Given the description of an element on the screen output the (x, y) to click on. 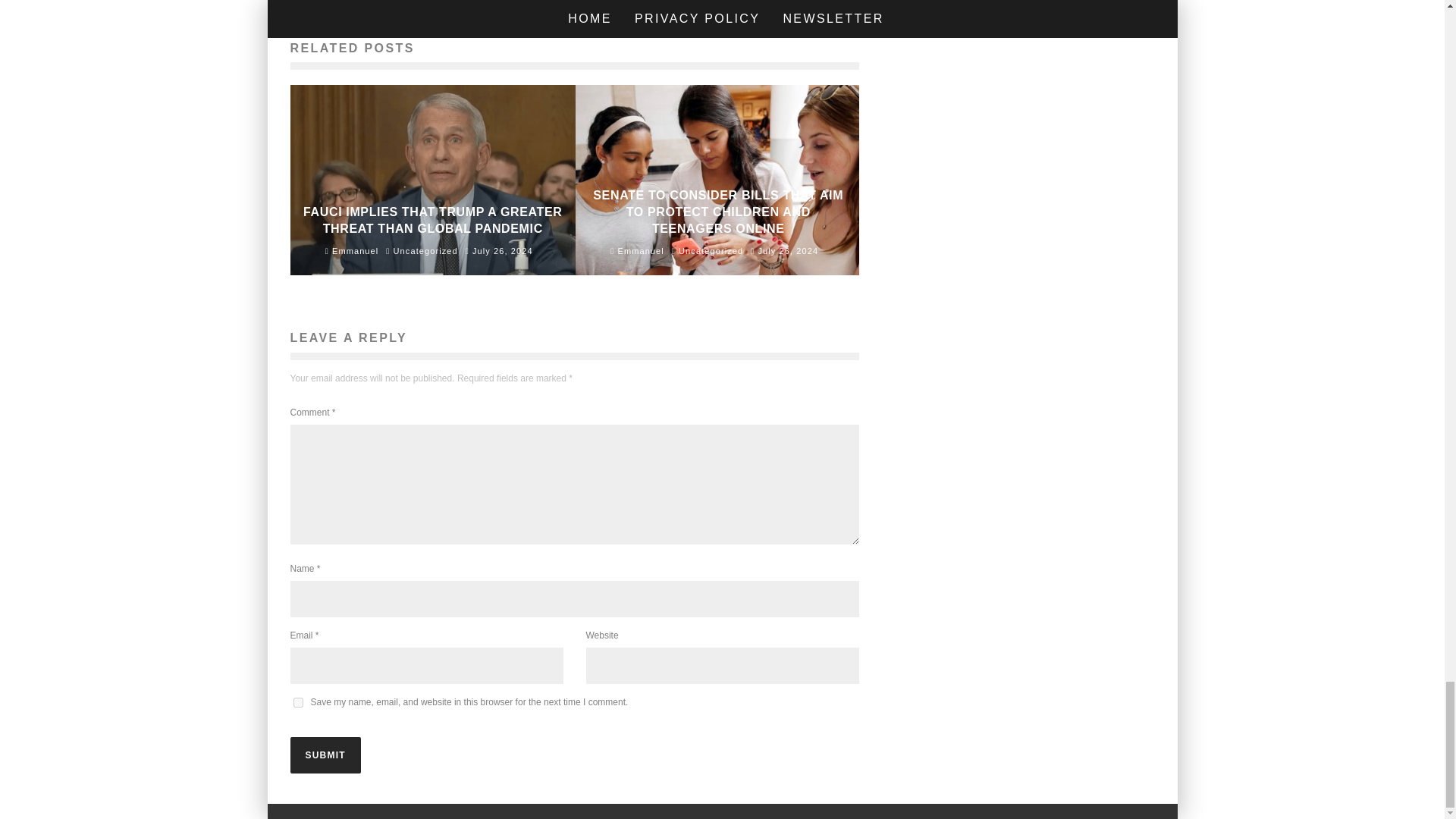
Uncategorized (710, 250)
Submit (324, 755)
Emmanuel (351, 250)
Uncategorized (425, 250)
yes (297, 702)
Emmanuel (636, 250)
Submit (324, 755)
